Given the description of an element on the screen output the (x, y) to click on. 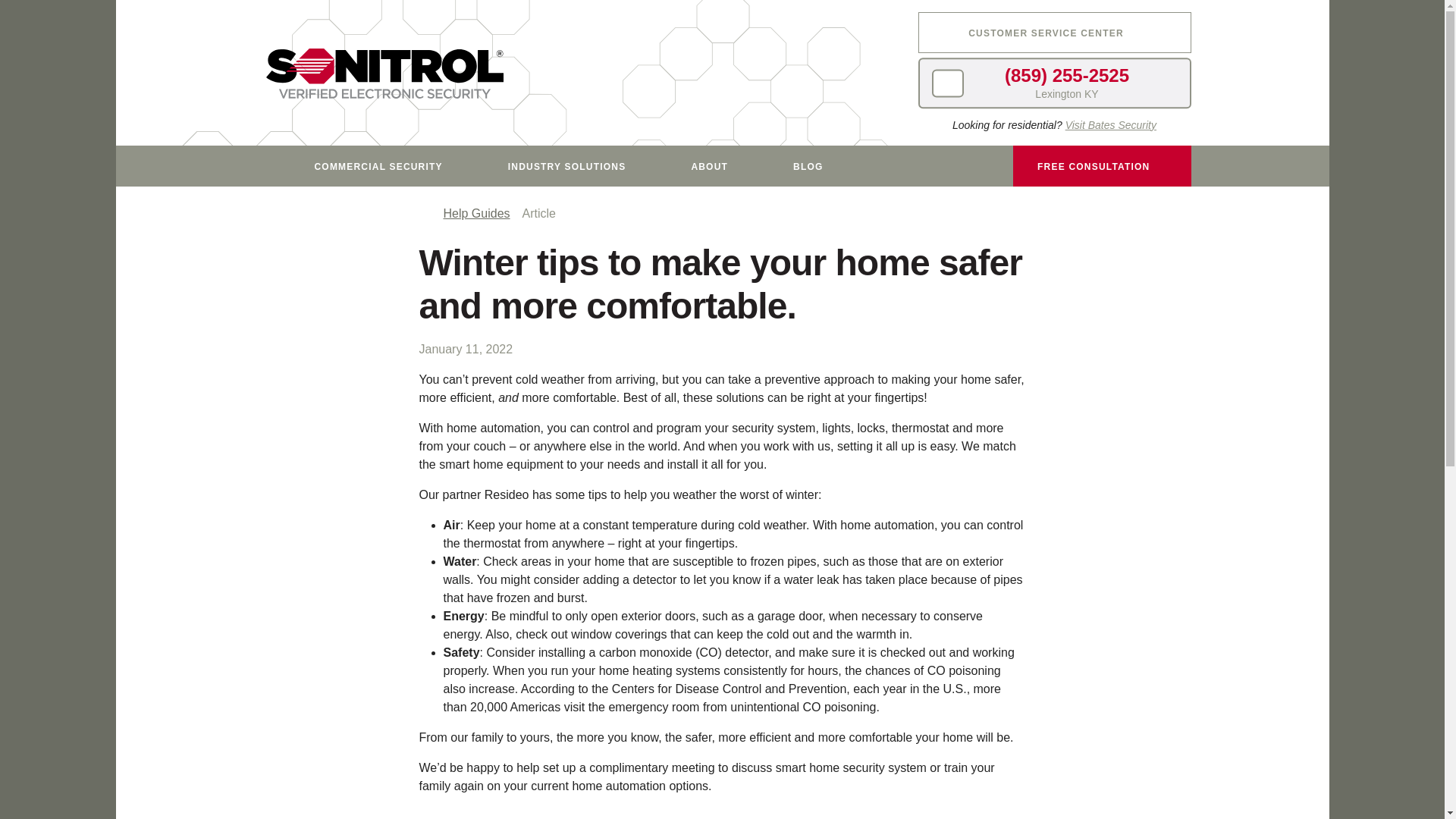
Visit Bates Security (1110, 124)
CUSTOMER SERVICE CENTER (1054, 32)
COMMERCIAL SECURITY (386, 165)
